Given the description of an element on the screen output the (x, y) to click on. 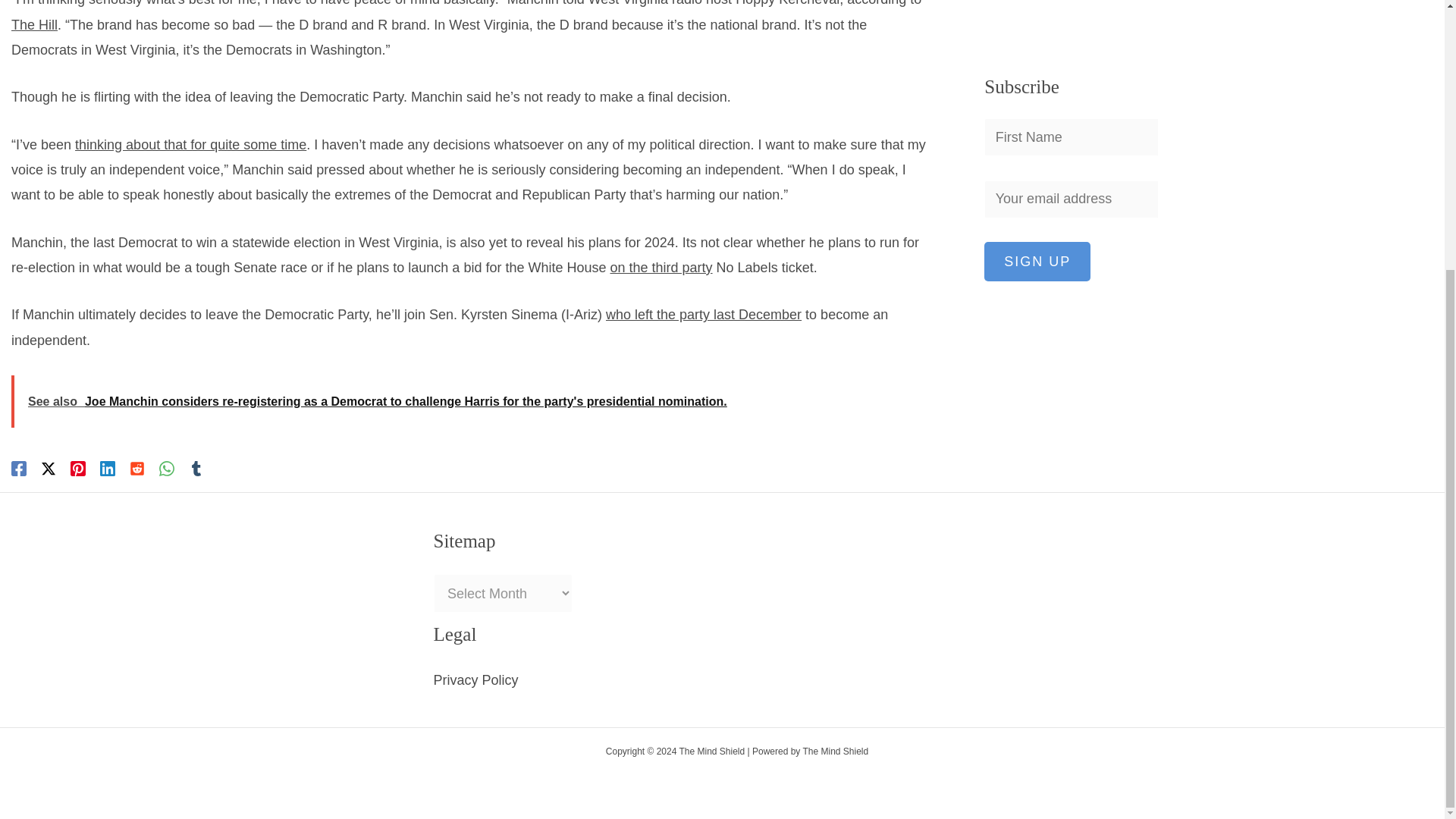
Sign up (1037, 36)
who left the party last December (703, 314)
thinking about that for quite some time (190, 144)
on the third party (660, 267)
The Hill (34, 24)
Sign up (1037, 36)
